Given the description of an element on the screen output the (x, y) to click on. 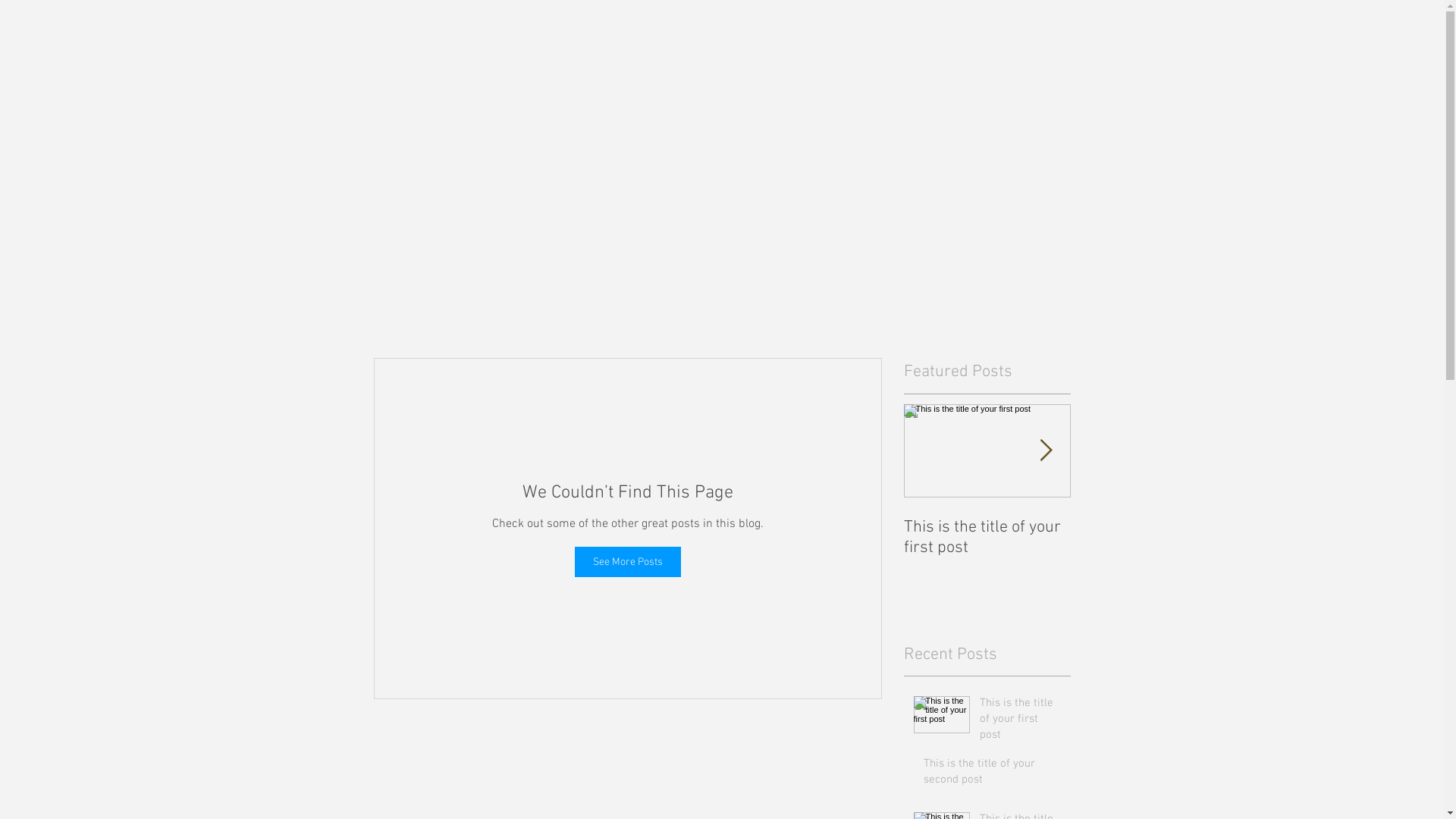
This is the title of your first post Element type: text (986, 537)
See More Posts Element type: text (627, 561)
This is the title of your second post Element type: text (992, 774)
This is the title of your second post Element type: text (1153, 537)
This is the title of your first post Element type: text (1020, 722)
